Given the description of an element on the screen output the (x, y) to click on. 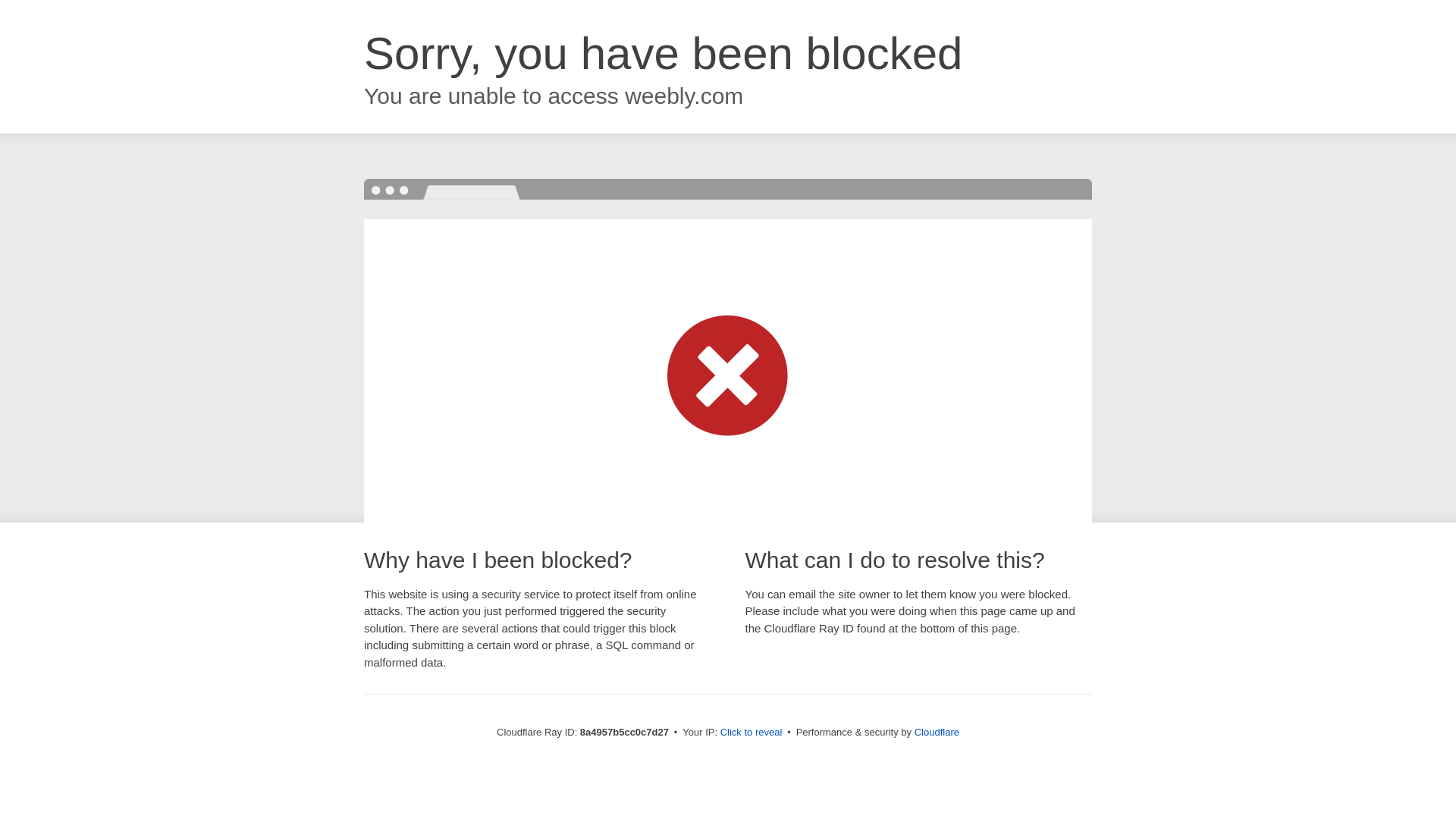
Click to reveal (751, 732)
Cloudflare (936, 731)
